Given the description of an element on the screen output the (x, y) to click on. 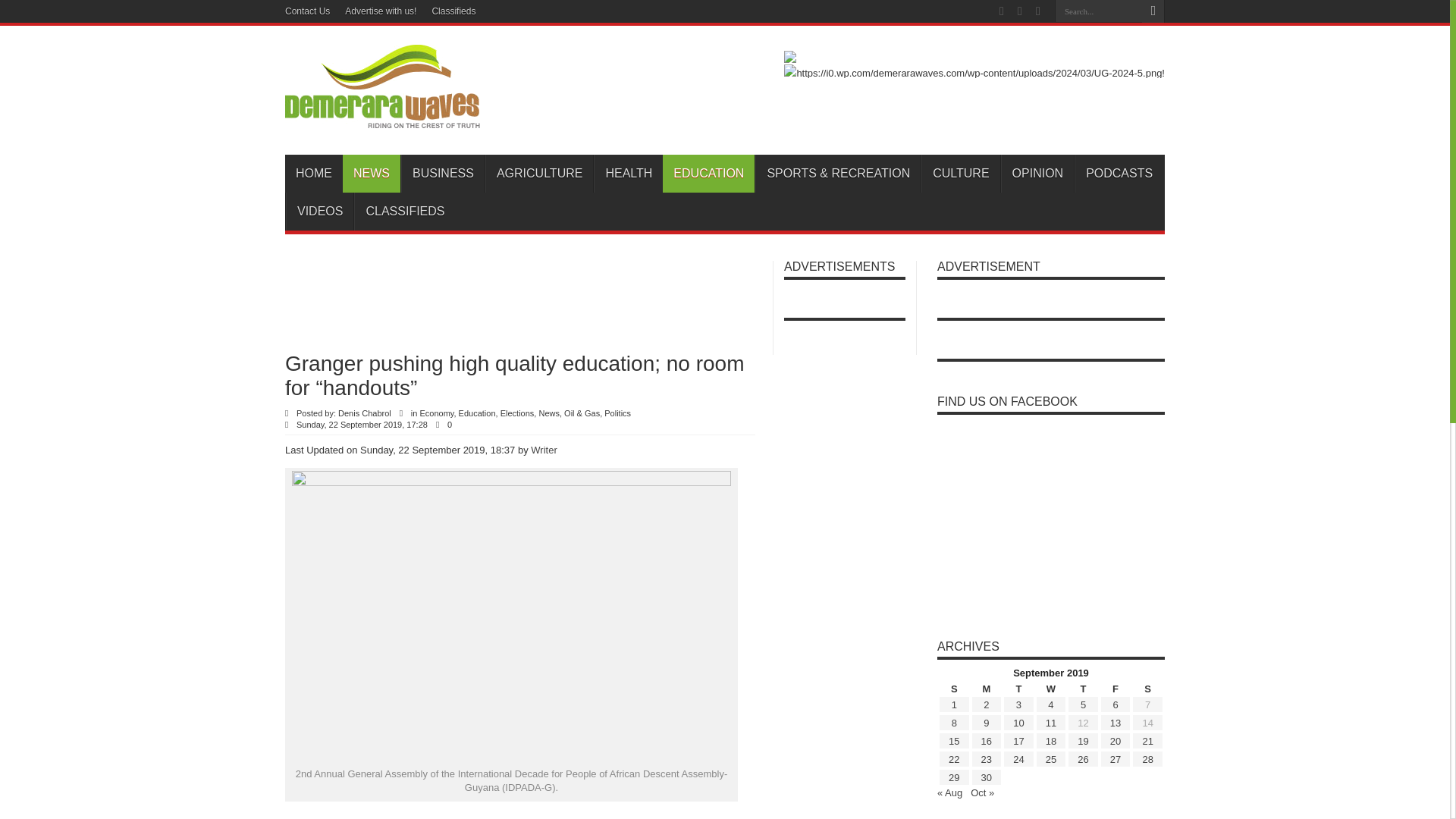
HOME (313, 173)
PODCASTS (1118, 173)
NEWS (371, 173)
Search... (1097, 11)
Denis Chabrol (364, 412)
Demerara Waves Online News- Guyana (382, 116)
OPINION (1037, 173)
0 (452, 424)
VIDEOS (319, 211)
Search (1152, 11)
